Given the description of an element on the screen output the (x, y) to click on. 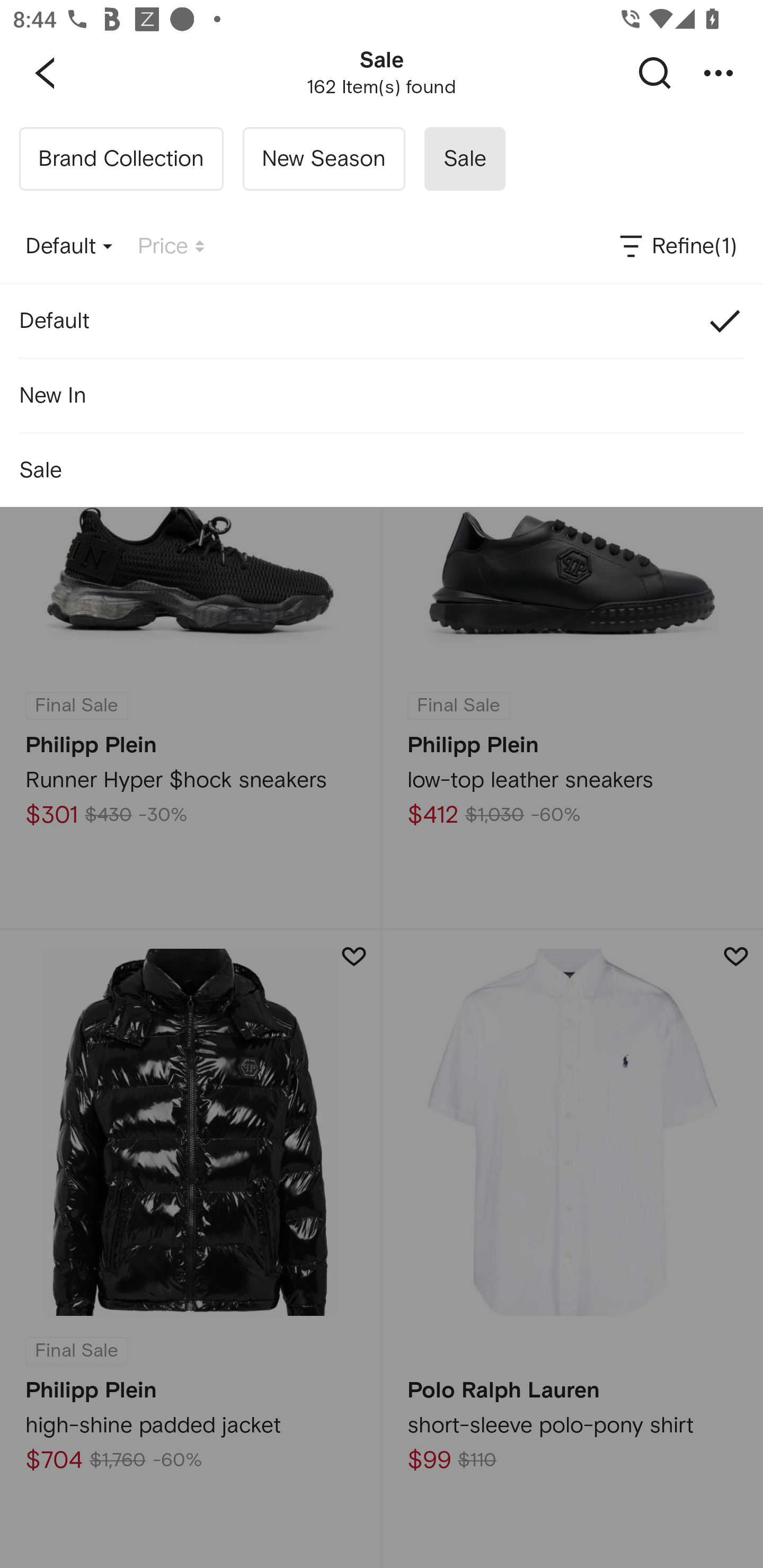
Brand Collection (121, 158)
New Season (323, 158)
Sale (464, 158)
Default (68, 246)
Price (171, 246)
Refine(1) (677, 246)
Default (381, 320)
New In (381, 394)
Sale (381, 470)
